Given the description of an element on the screen output the (x, y) to click on. 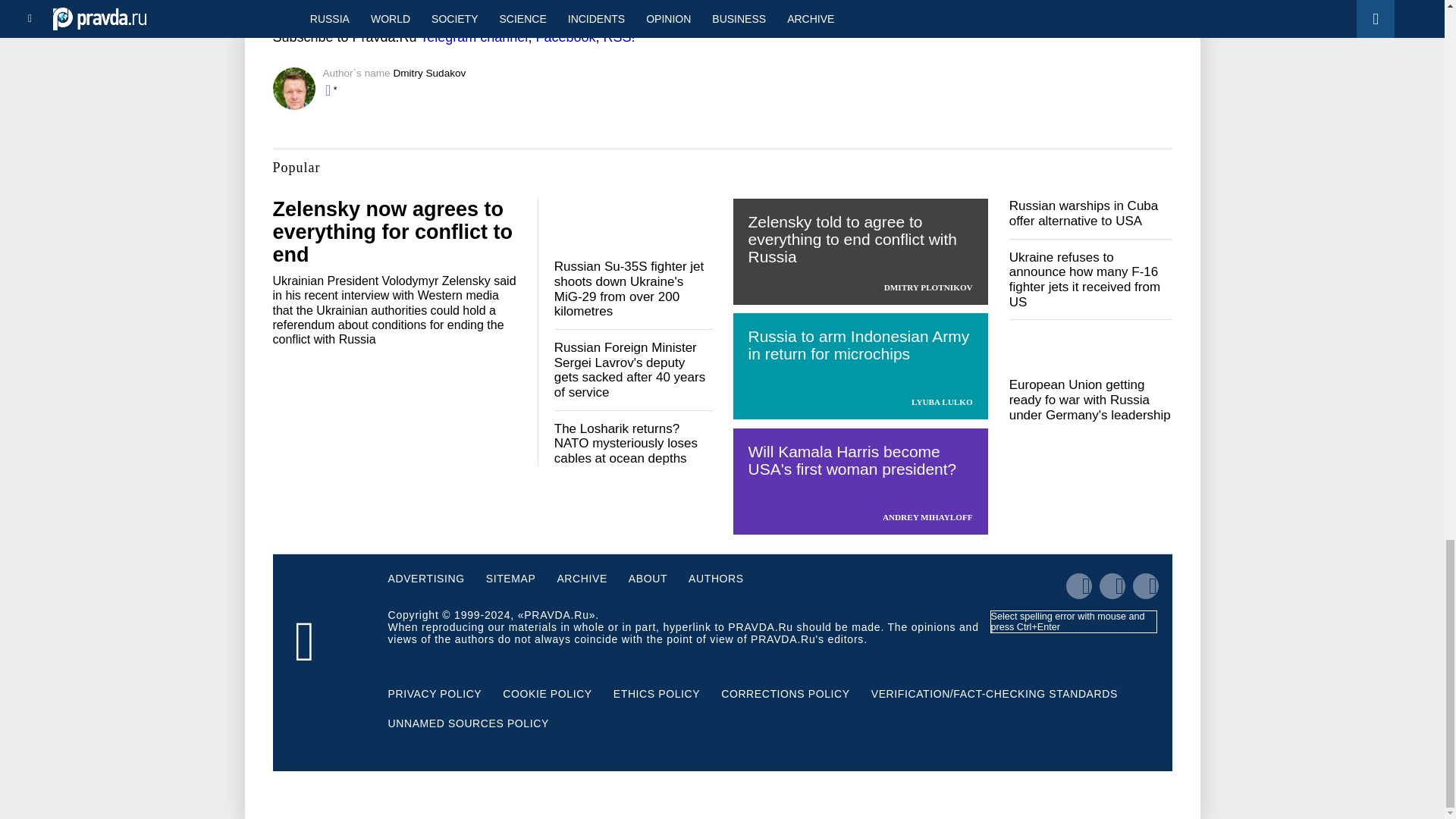
Dmitry Sudakov (429, 72)
RSS (616, 37)
Facebook (565, 37)
Telegram channel (473, 37)
